Given the description of an element on the screen output the (x, y) to click on. 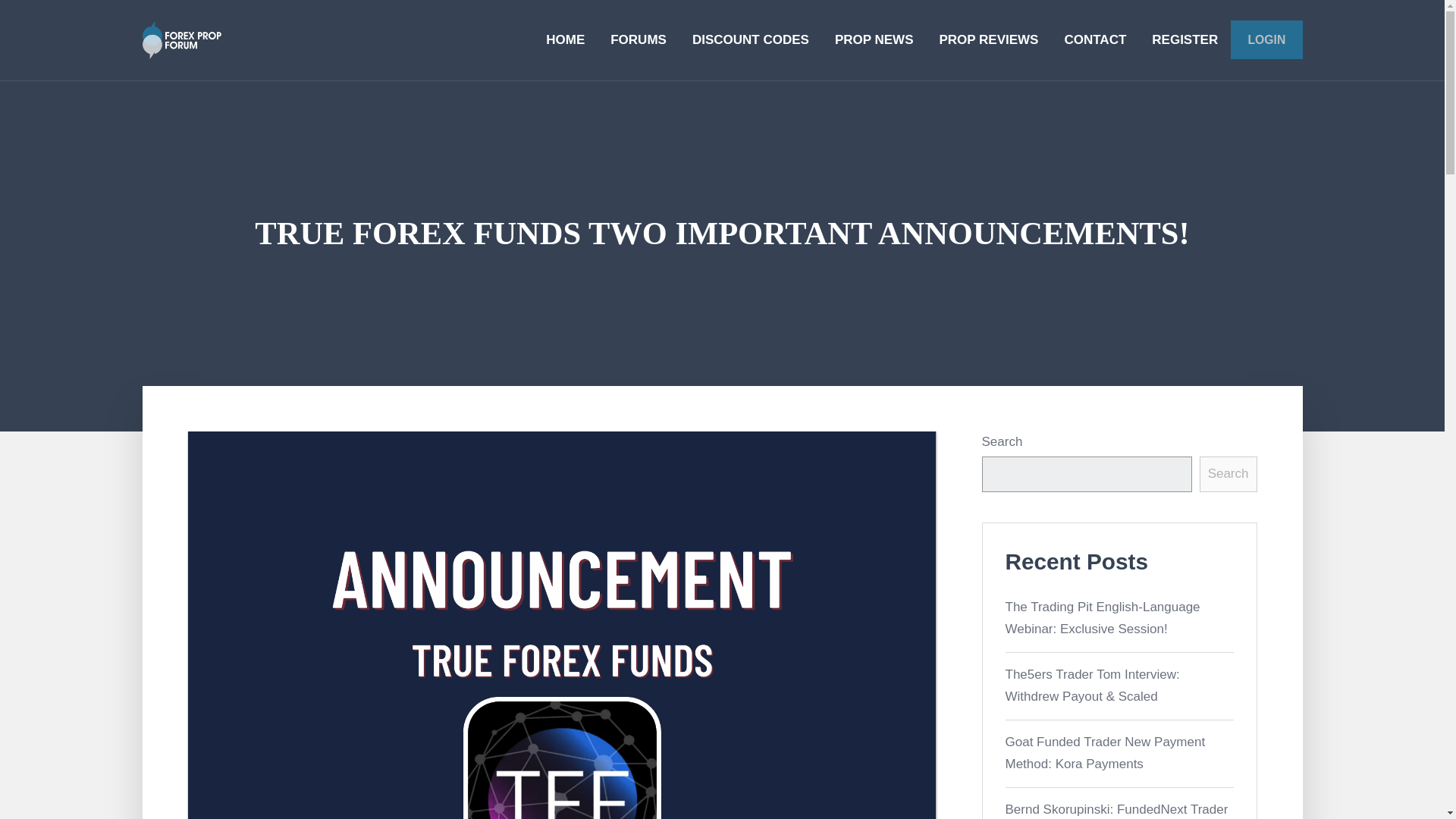
CONTACT (1094, 40)
Search (1228, 474)
PROP REVIEWS (988, 40)
FORUMS (637, 40)
The Trading Pit English-Language Webinar: Exclusive Session! (1102, 617)
LOGIN (1265, 39)
DISCOUNT CODES (750, 40)
REGISTER (1184, 40)
PROP NEWS (874, 40)
Goat Funded Trader New Payment Method: Kora Payments (1105, 752)
